Given the description of an element on the screen output the (x, y) to click on. 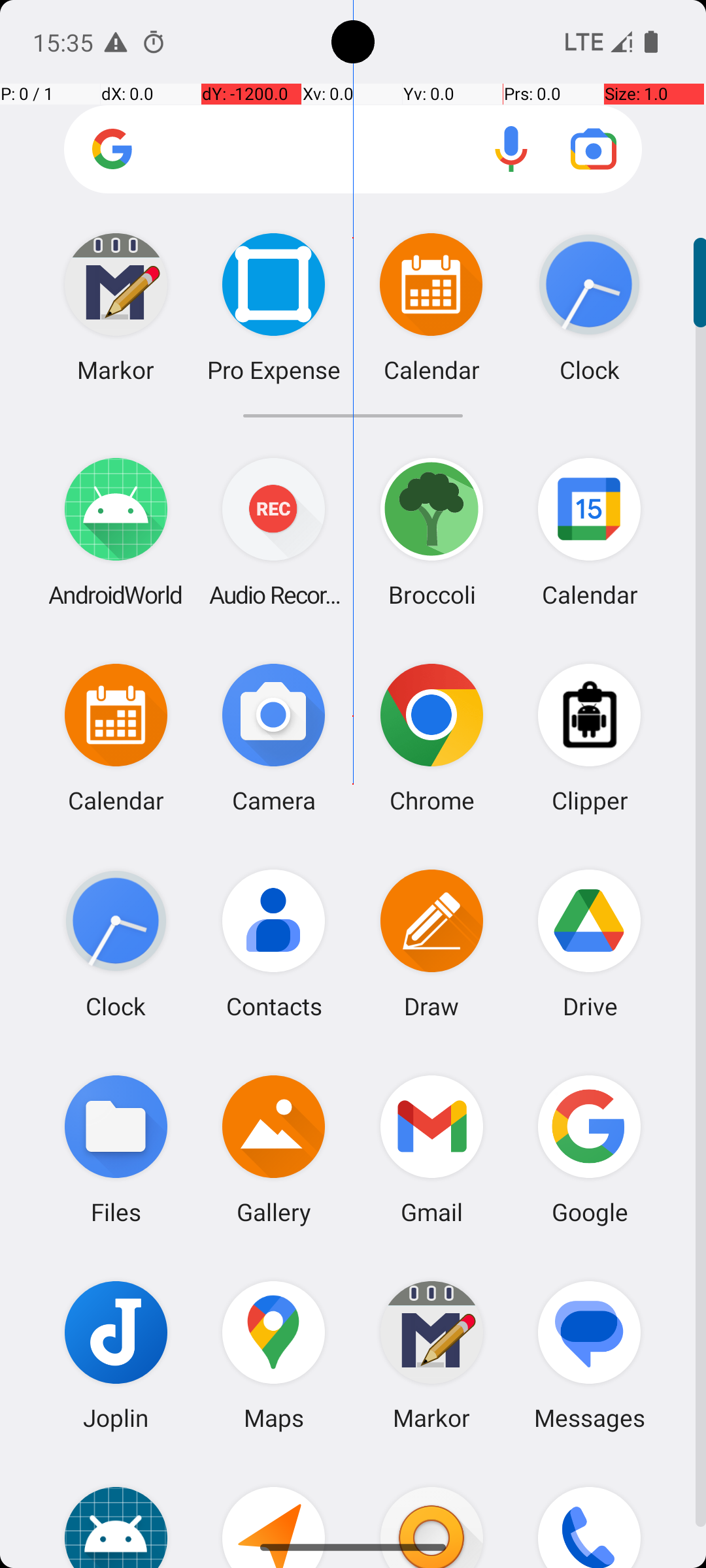
Search apps, web and more Element type: android.widget.EditText (352, 148)
AndroidWorld Element type: android.widget.TextView (115, 531)
Broccoli Element type: android.widget.TextView (431, 531)
Calendar Element type: android.widget.TextView (589, 531)
Camera Element type: android.widget.TextView (273, 737)
Clipper Element type: android.widget.TextView (589, 737)
Draw Element type: android.widget.TextView (431, 942)
Drive Element type: android.widget.TextView (589, 942)
Files Element type: android.widget.TextView (115, 1148)
Gallery Element type: android.widget.TextView (273, 1148)
Google Element type: android.widget.TextView (589, 1148)
Joplin Element type: android.widget.TextView (115, 1354)
Maps Element type: android.widget.TextView (273, 1354)
Markor Element type: android.widget.TextView (431, 1354)
Miniwob App Element type: android.widget.TextView (115, 1512)
OpenTracks Element type: android.widget.TextView (273, 1512)
OsmAnd Element type: android.widget.TextView (431, 1512)
Pro Expense Element type: android.widget.TextView (273, 306)
15:35 Element type: android.widget.TextView (64, 41)
